Given the description of an element on the screen output the (x, y) to click on. 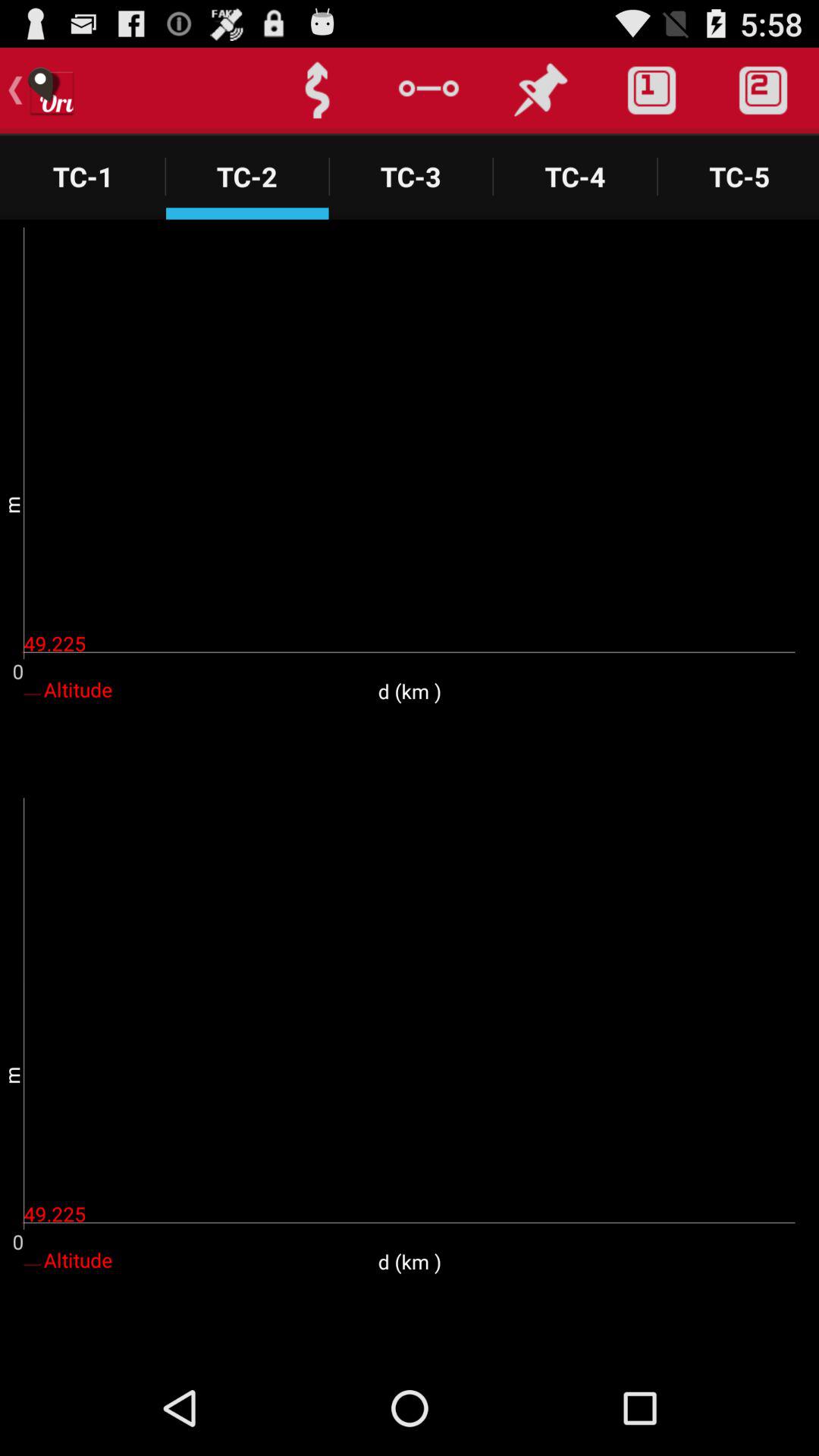
turn on app above tc-4 (651, 90)
